Given the description of an element on the screen output the (x, y) to click on. 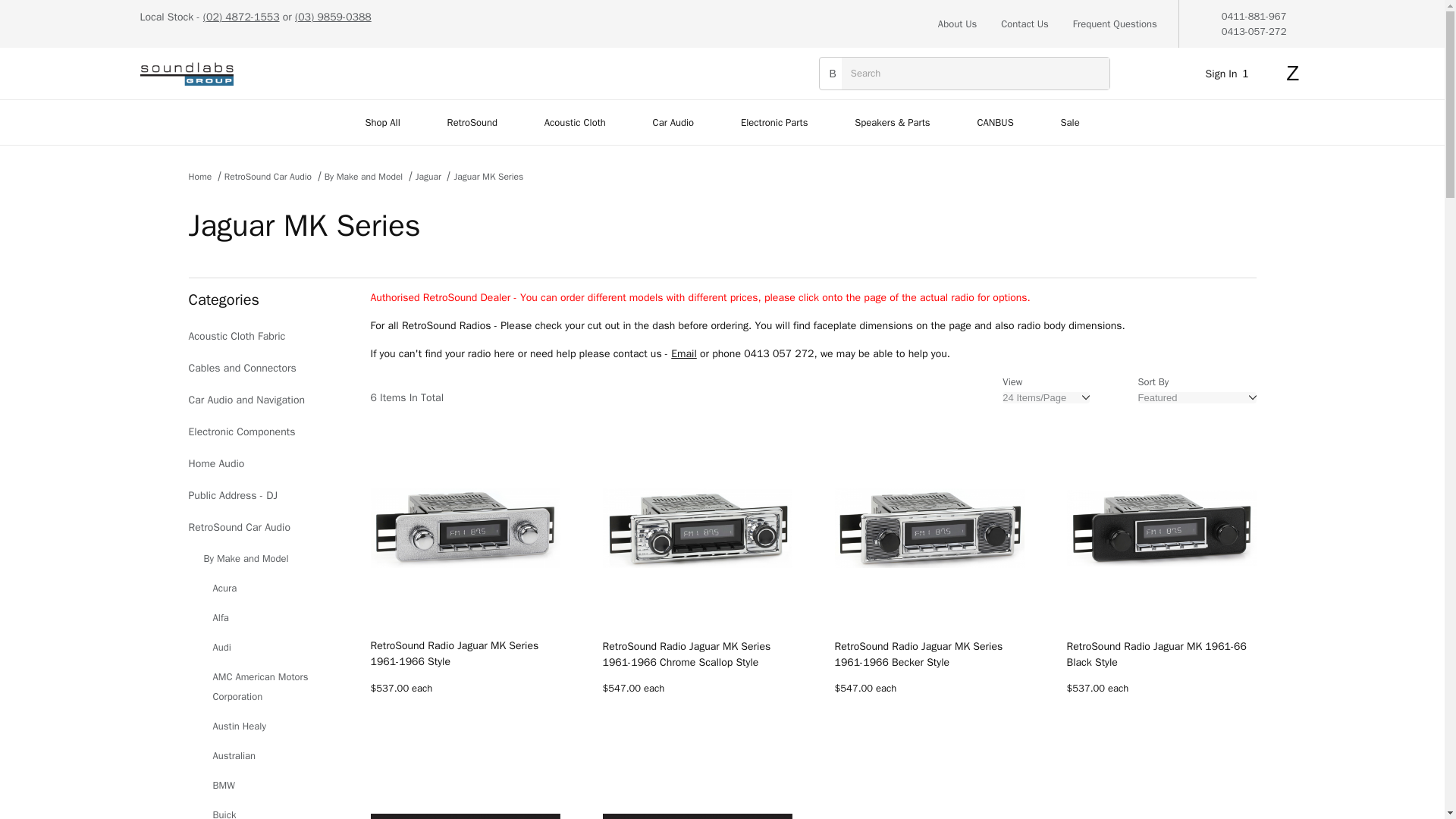
0411-881-967 (1254, 15)
RetroSound (472, 122)
About Us (956, 23)
Contact Us (1024, 23)
Soundlabs Group (185, 72)
Sign In (1229, 73)
Frequent Questions (1115, 23)
Shop All (382, 122)
Sign In (1218, 263)
0413-057-272 (1254, 30)
